Given the description of an element on the screen output the (x, y) to click on. 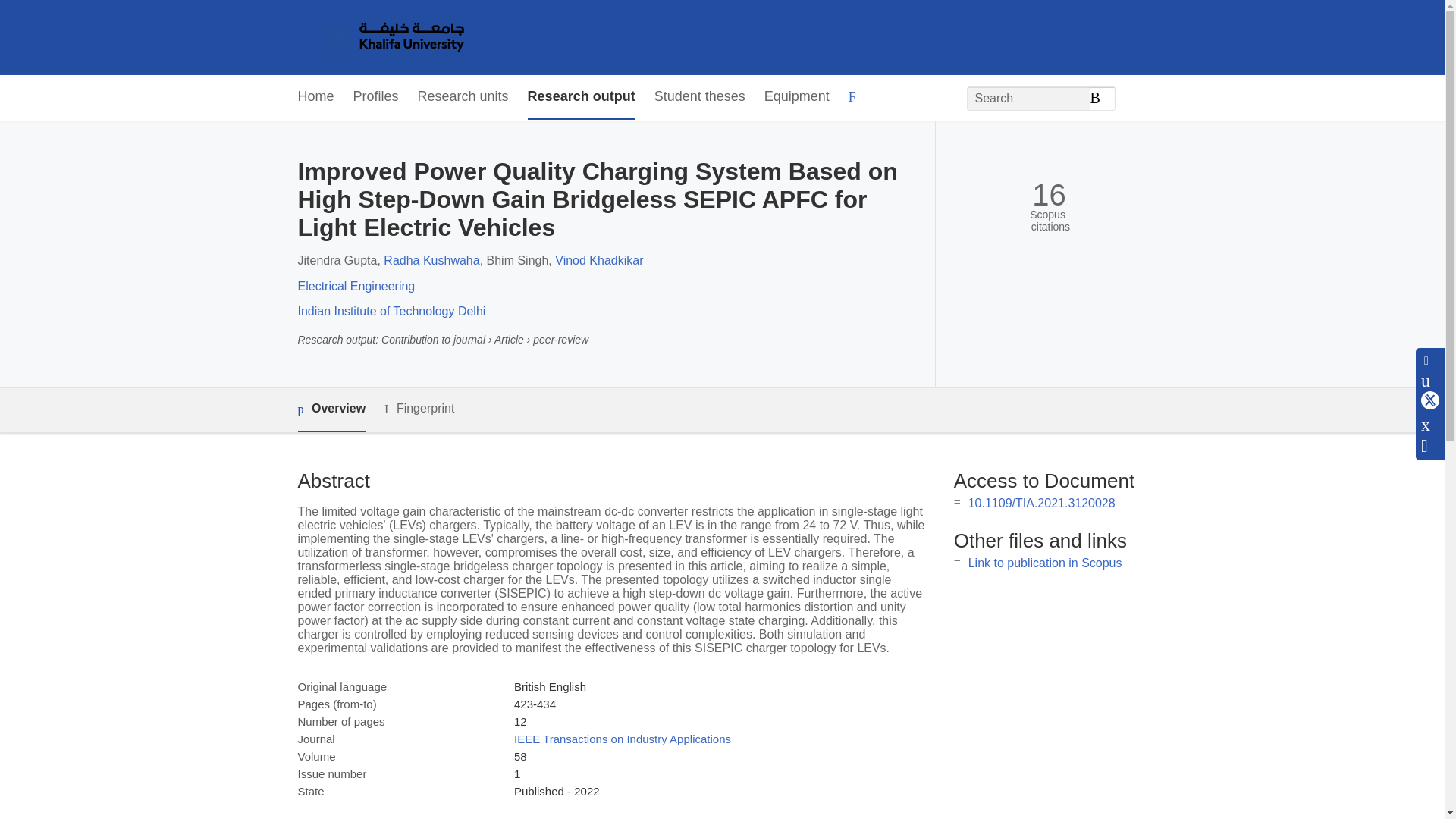
Link to publication in Scopus (1045, 562)
Research output (580, 97)
Research units (462, 97)
Profiles (375, 97)
Overview (331, 409)
Indian Institute of Technology Delhi (390, 310)
Equipment (796, 97)
Electrical Engineering (355, 286)
Khalifa University Home (391, 37)
